Given the description of an element on the screen output the (x, y) to click on. 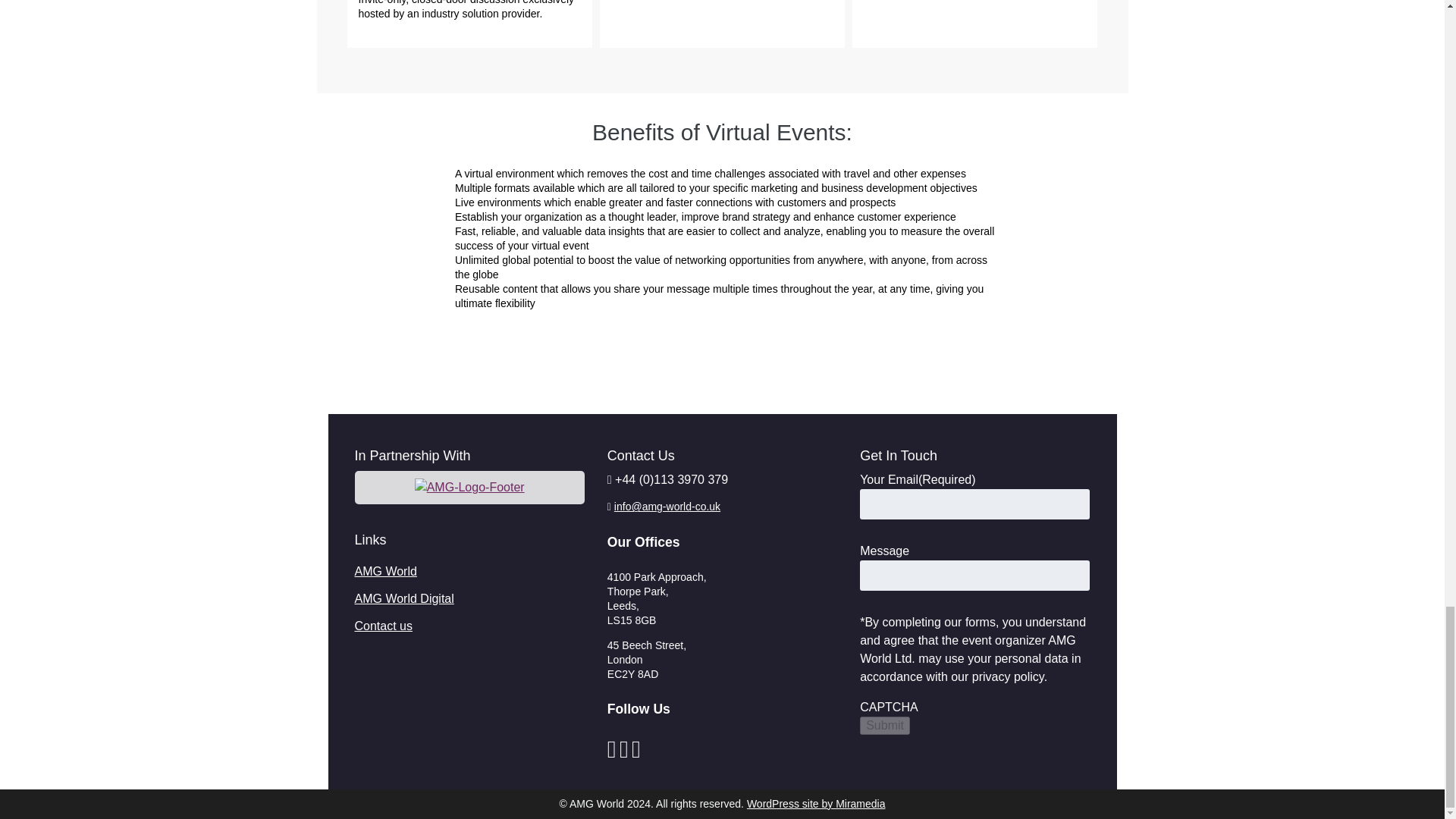
Submit (885, 725)
AMG-Logo-Footer (469, 487)
Miramedia, a WordPress agency in Kent (815, 803)
WordPress site by Miramedia (815, 803)
Contact us (383, 625)
Submit (885, 725)
AMG World (385, 571)
AMG World Digital (404, 598)
